Given the description of an element on the screen output the (x, y) to click on. 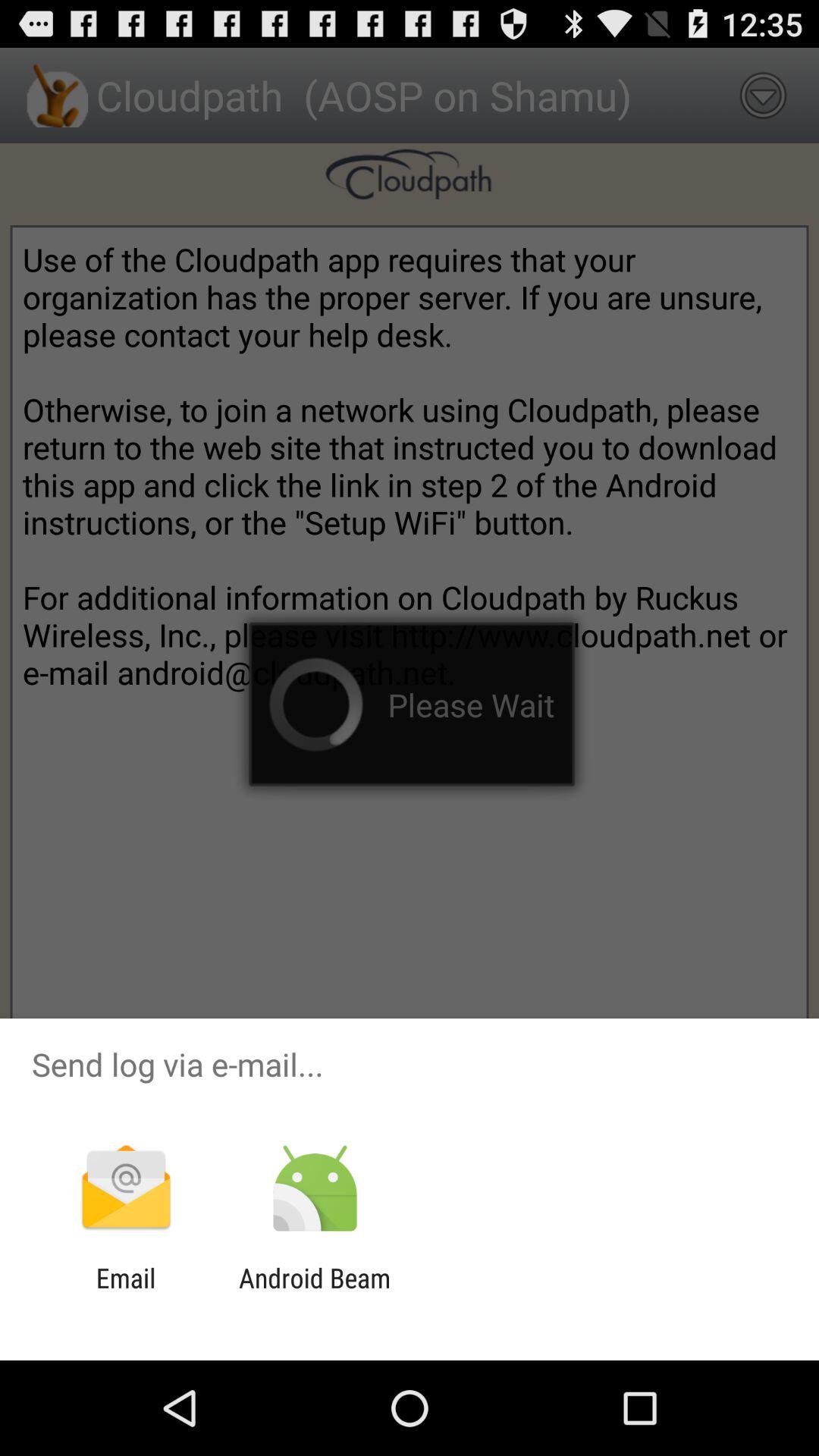
swipe until the email app (125, 1293)
